Given the description of an element on the screen output the (x, y) to click on. 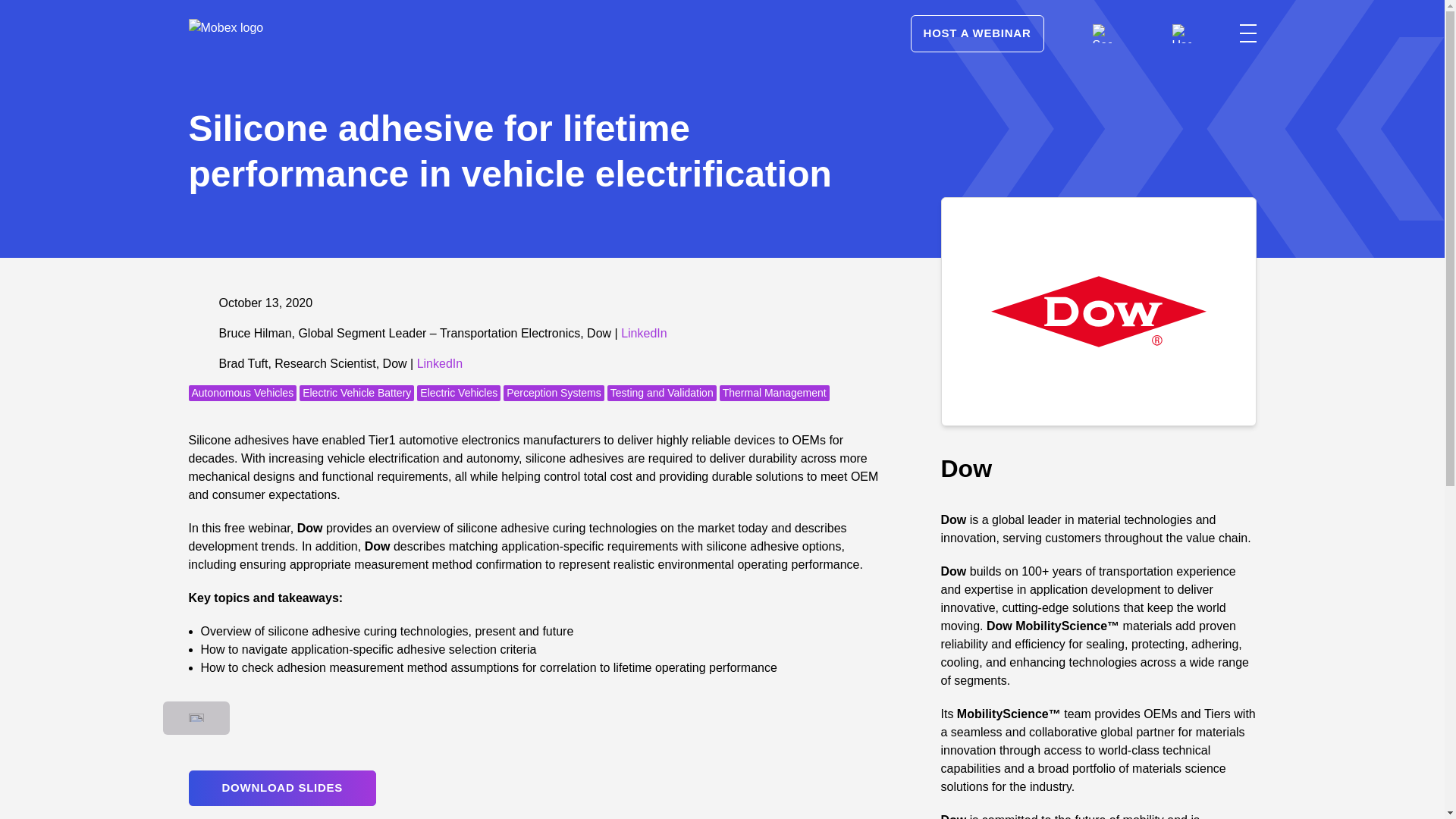
HOST A WEBINAR (977, 33)
Testing and Validation (661, 392)
Autonomous Vehicles (242, 392)
DOWNLOAD SLIDES (281, 787)
Electric Vehicles (458, 392)
LinkedIn (643, 332)
Perception Systems (553, 392)
LinkedIn (439, 363)
Electric Vehicle Battery (356, 392)
Thermal Management (774, 392)
